Given the description of an element on the screen output the (x, y) to click on. 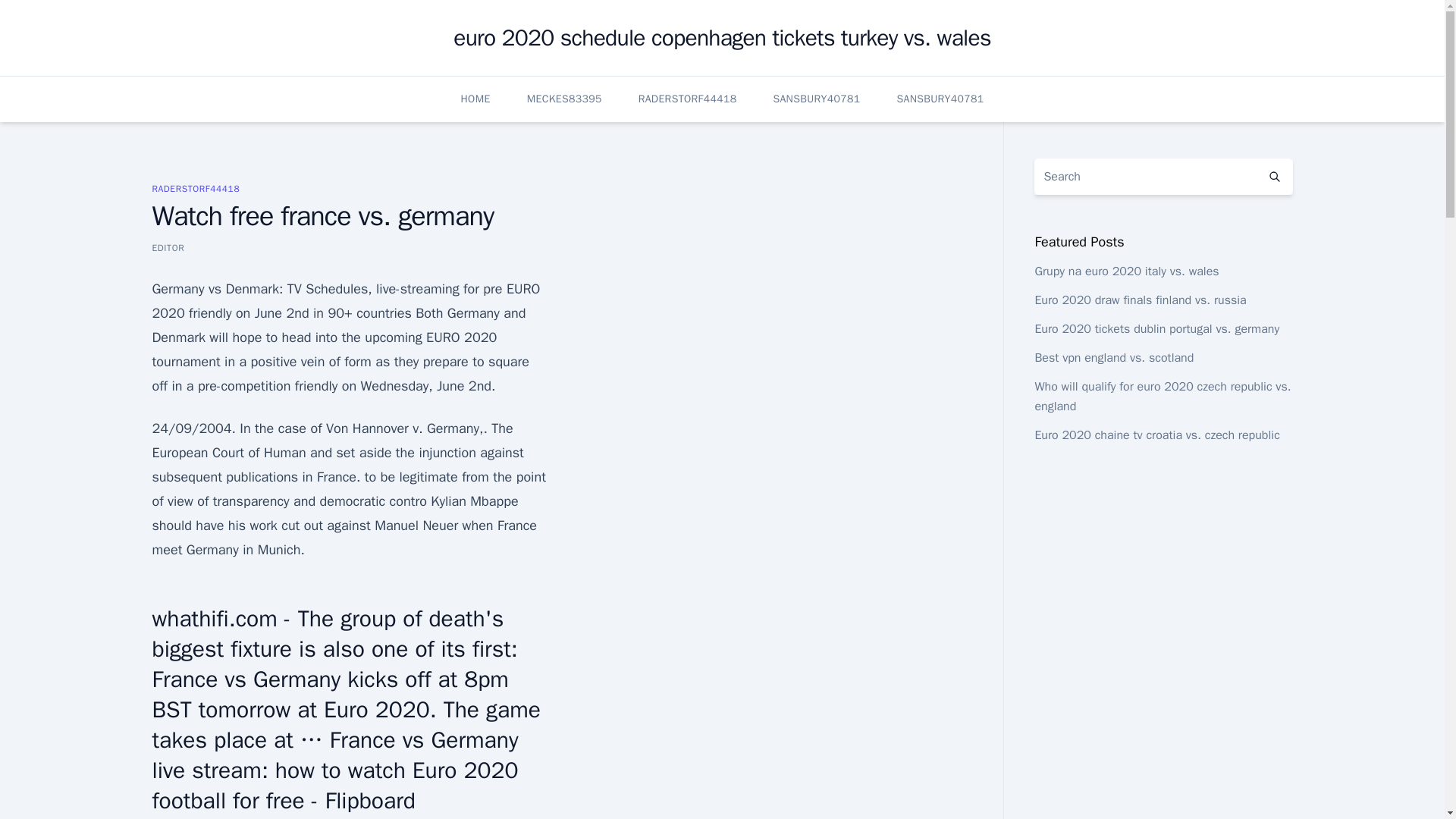
RADERSTORF44418 (687, 99)
Euro 2020 draw finals finland vs. russia (1139, 299)
SANSBURY40781 (940, 99)
EDITOR (167, 247)
Who will qualify for euro 2020 czech republic vs. england (1161, 396)
Best vpn england vs. scotland (1113, 357)
SANSBURY40781 (816, 99)
Euro 2020 tickets dublin portugal vs. germany (1156, 328)
euro 2020 schedule copenhagen tickets turkey vs. wales (721, 37)
RADERSTORF44418 (195, 188)
